Given the description of an element on the screen output the (x, y) to click on. 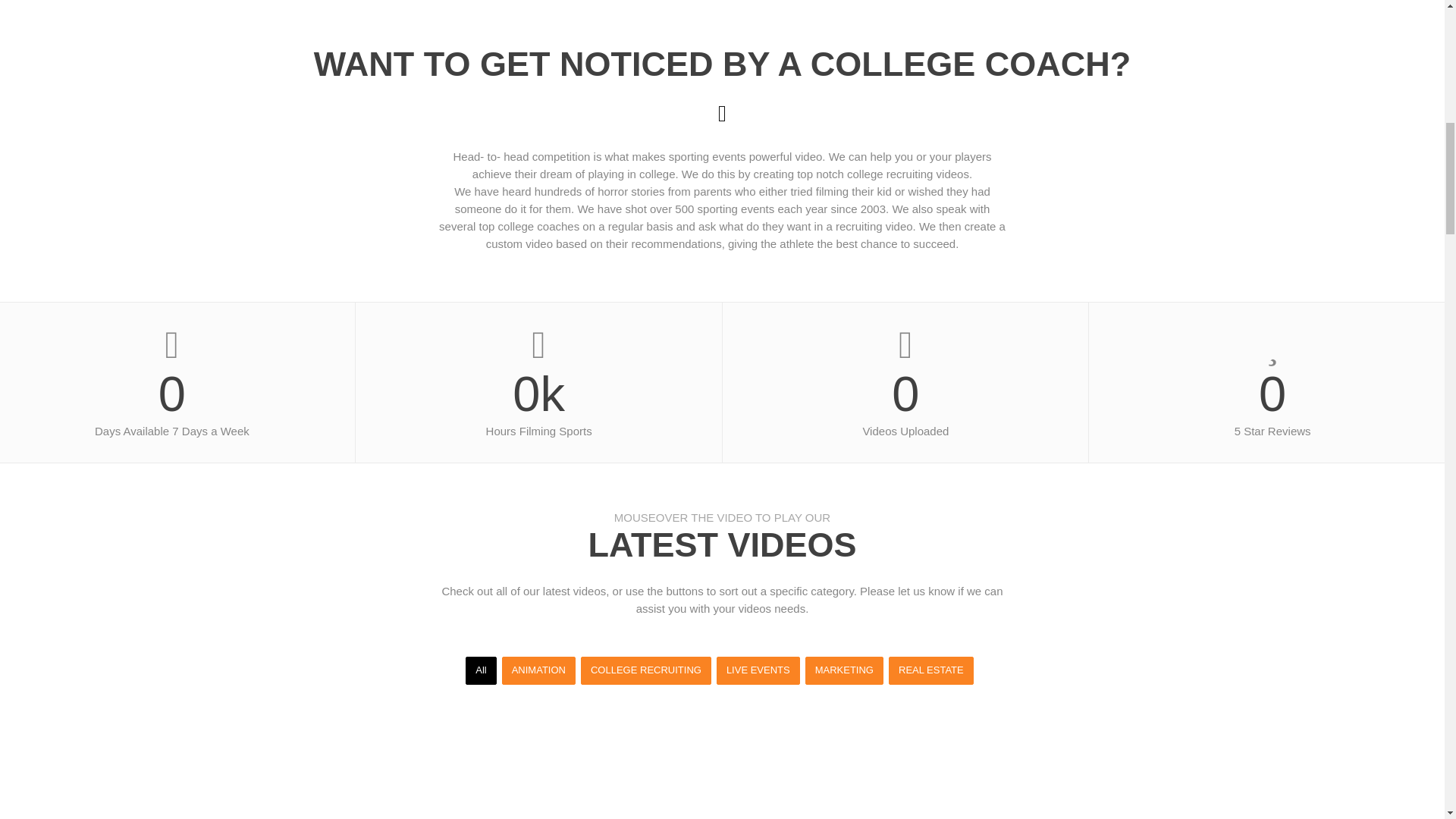
LIVE EVENTS (757, 670)
MARKETING (844, 670)
COLLEGE RECRUITING (645, 670)
All (480, 670)
ANIMATION (538, 670)
REAL ESTATE (931, 670)
